Given the description of an element on the screen output the (x, y) to click on. 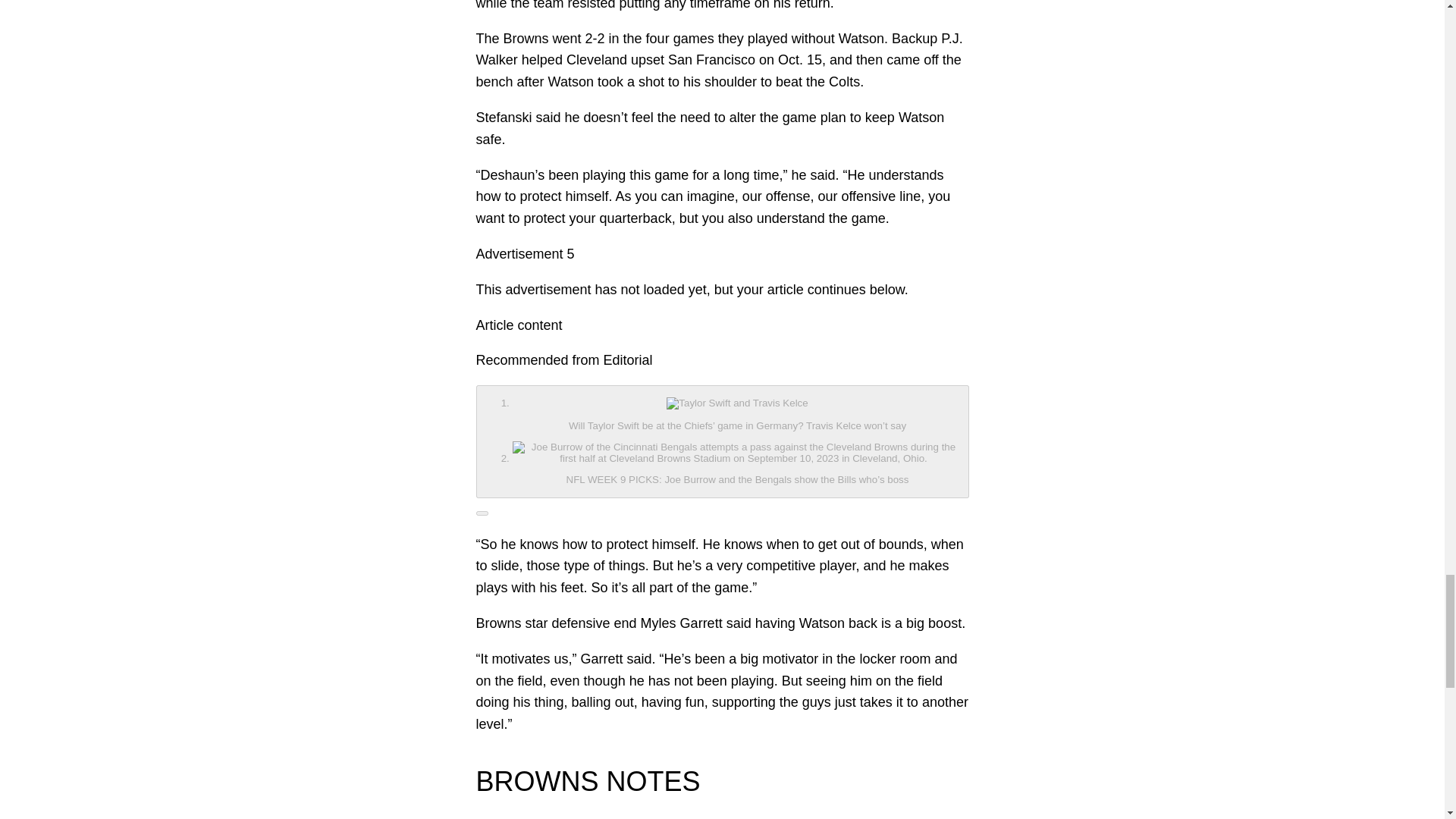
previous (722, 440)
next (481, 513)
